Given the description of an element on the screen output the (x, y) to click on. 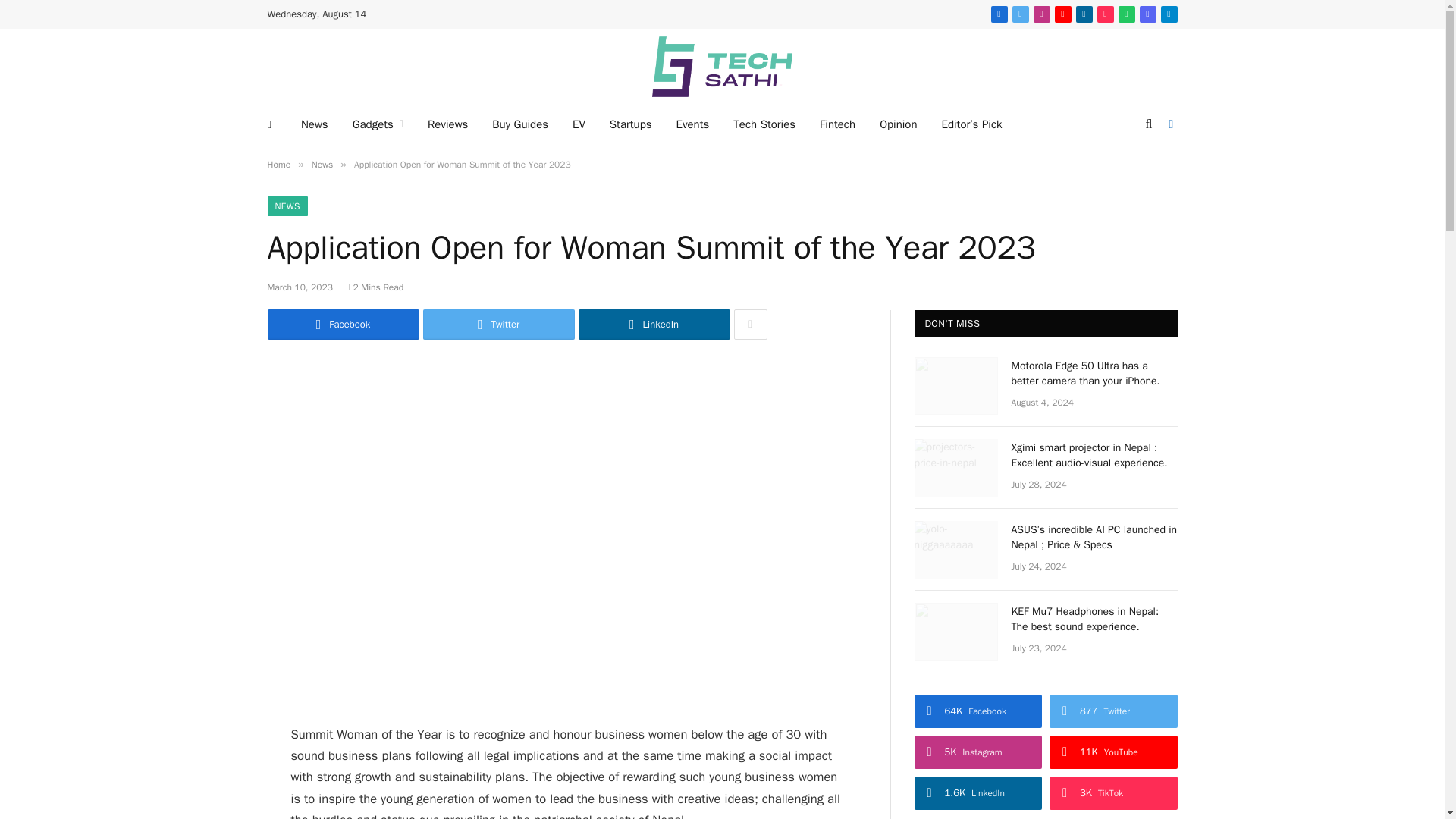
TechSathi (722, 66)
WhatsApp (1126, 13)
Share on Facebook (342, 324)
LinkedIn (1084, 13)
News (314, 124)
Gadgets (377, 124)
Switch to Dark Design - easier on eyes. (1169, 123)
Facebook (999, 13)
Instagram (1041, 13)
YouTube (1062, 13)
